Given the description of an element on the screen output the (x, y) to click on. 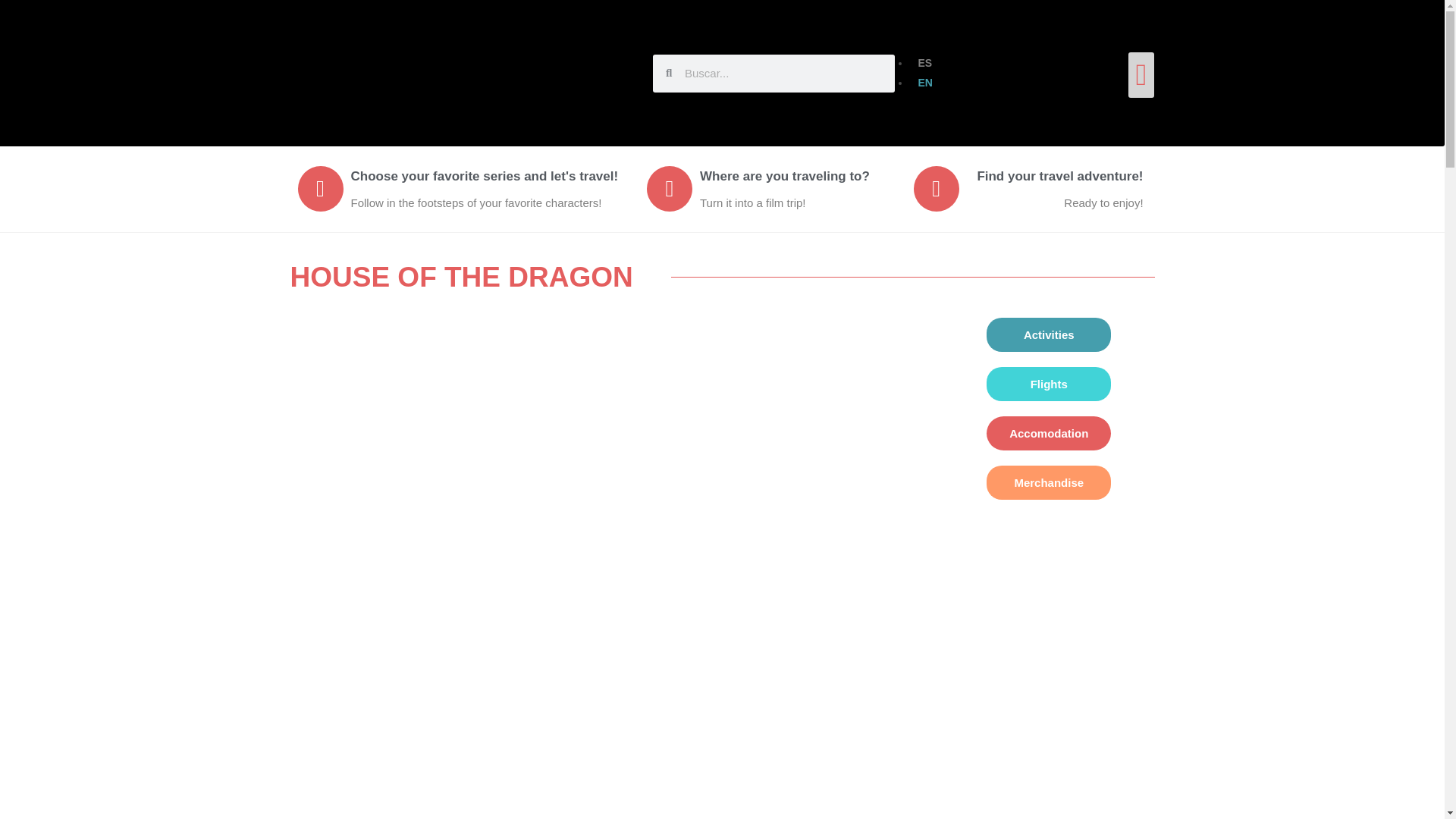
Find your travel adventure! (1059, 175)
Choose your favorite series and let's travel! (483, 175)
ES (920, 62)
EN (920, 81)
Where are you traveling to? (784, 175)
